Given the description of an element on the screen output the (x, y) to click on. 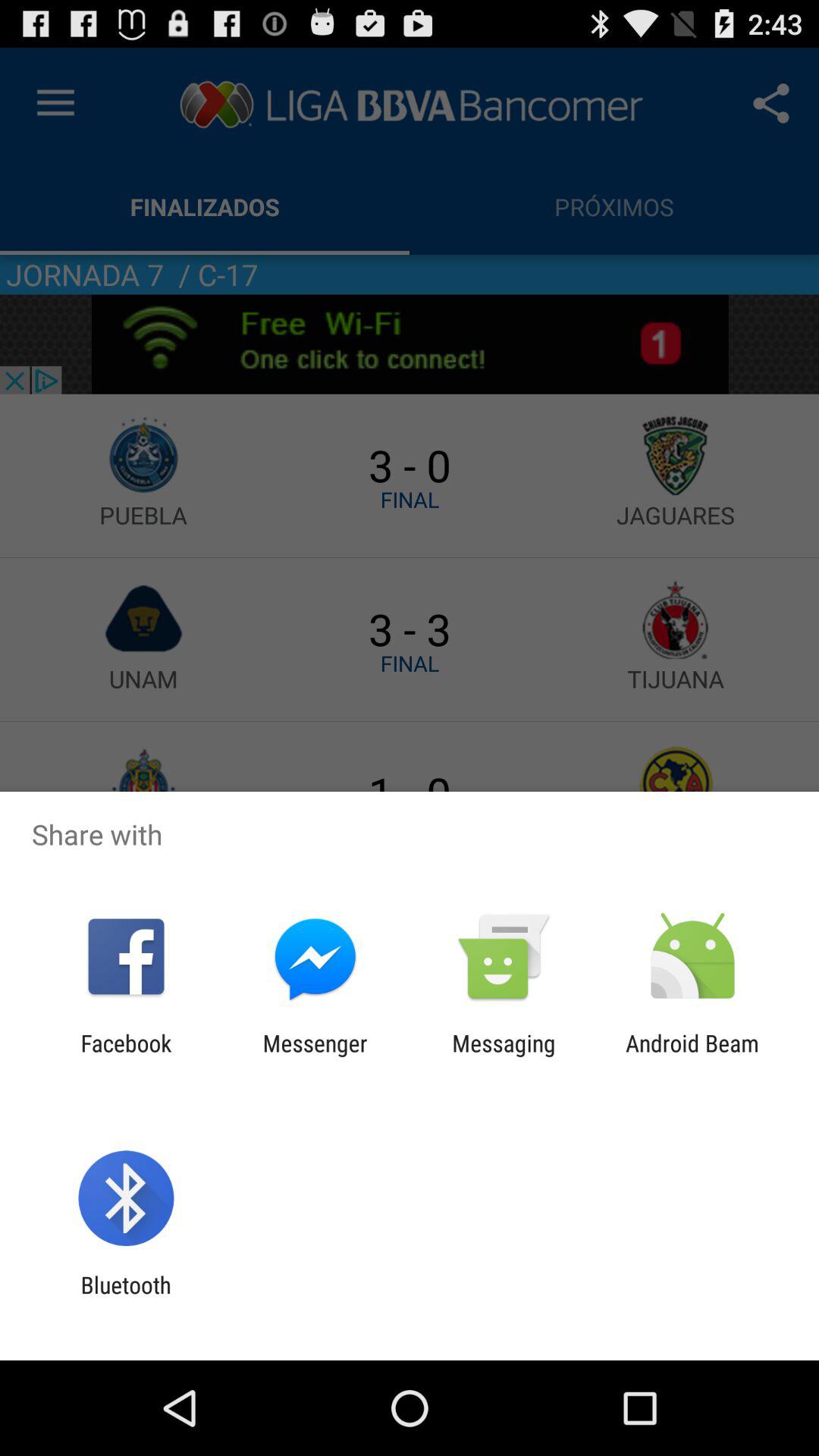
choose the app next to android beam (503, 1056)
